Given the description of an element on the screen output the (x, y) to click on. 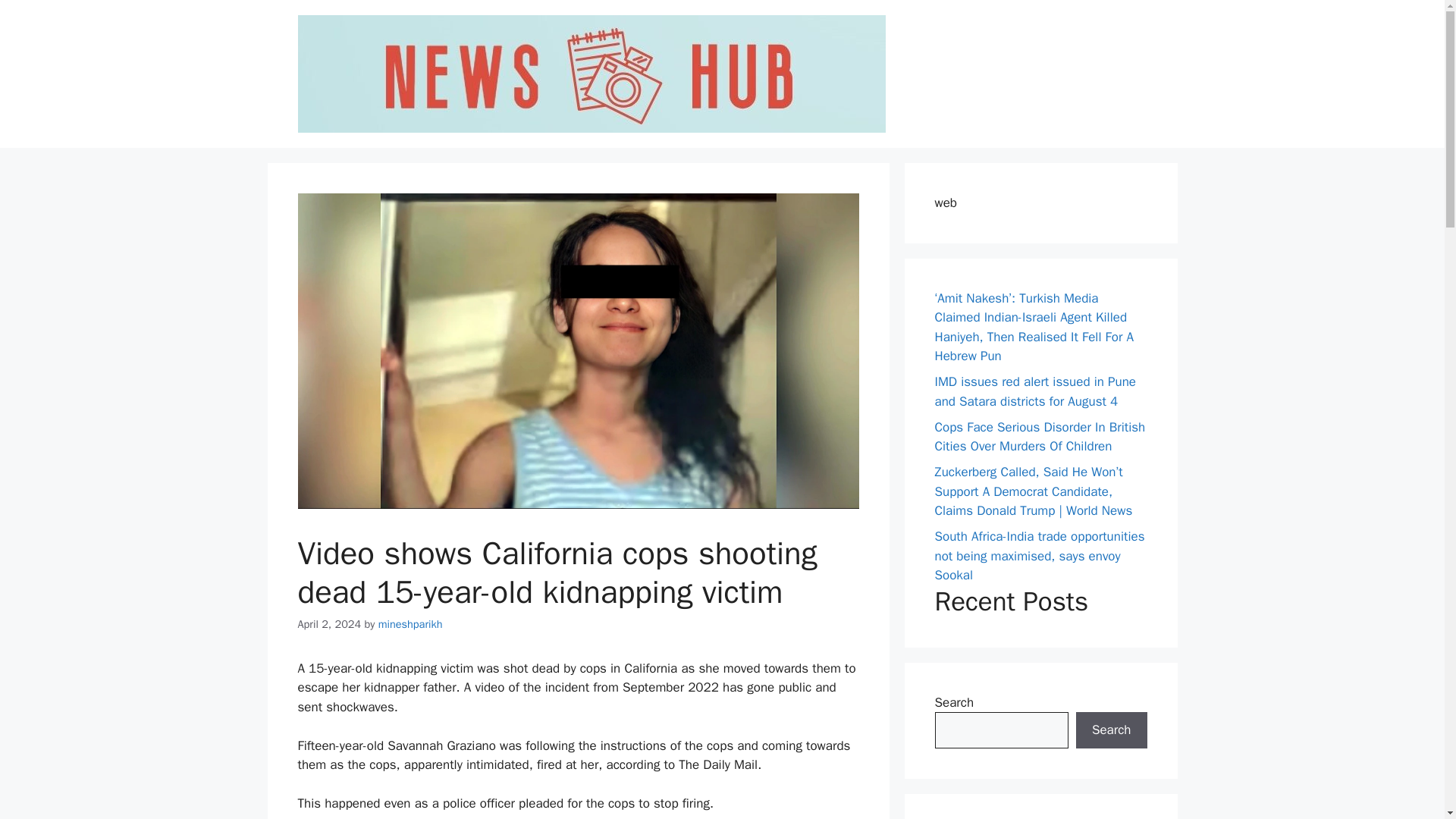
View all posts by mineshparikh (410, 623)
Search (1111, 729)
mineshparikh (410, 623)
